Given the description of an element on the screen output the (x, y) to click on. 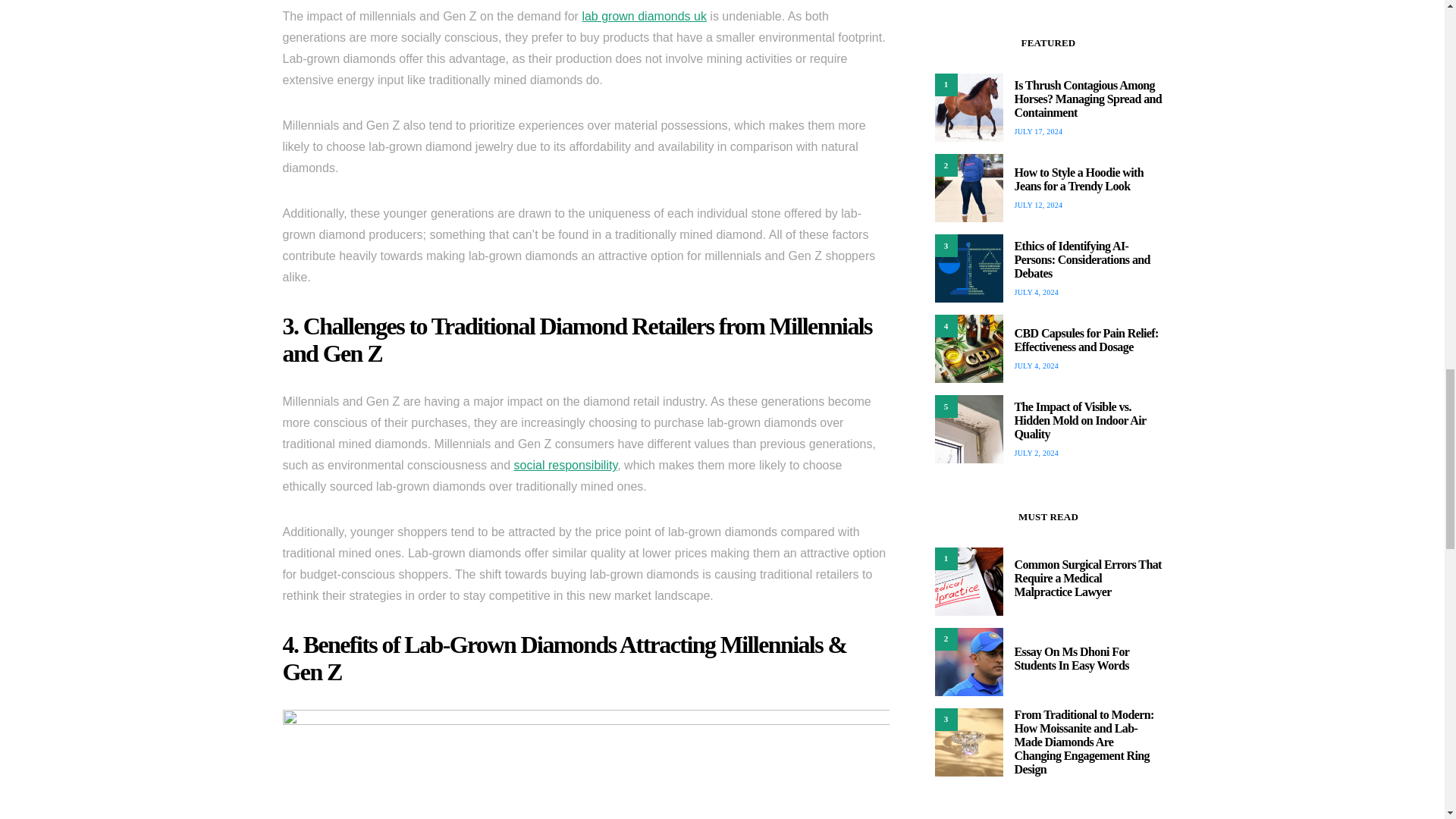
social responsibility (565, 464)
lab grown diamonds uk (643, 15)
